Given the description of an element on the screen output the (x, y) to click on. 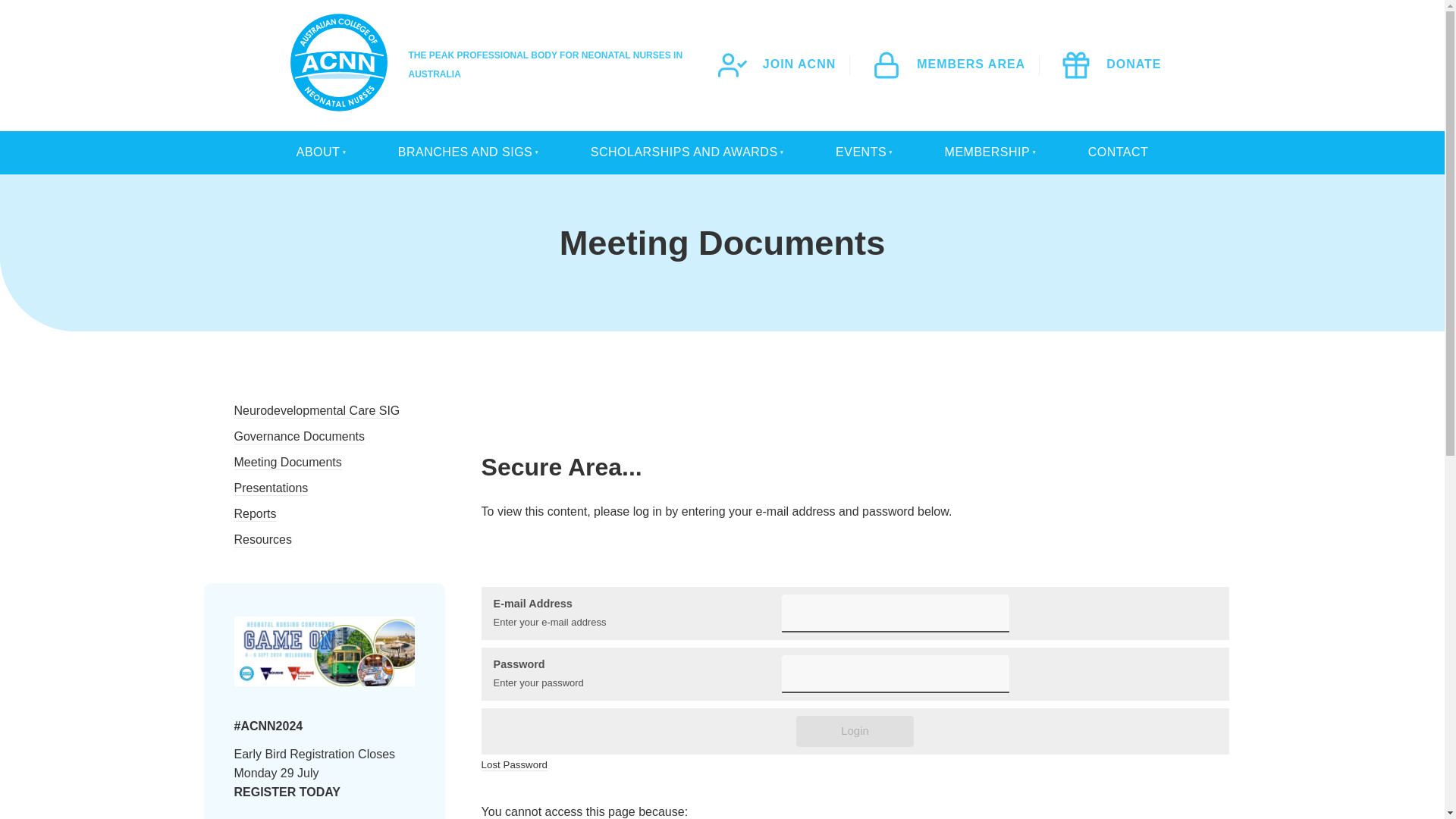
BRANCHES AND SIGS (465, 152)
DONATE (1110, 64)
SCHOLARSHIPS AND AWARDS (684, 152)
EVENTS (860, 152)
JOIN ACNN (776, 64)
MEMBERSHIP (986, 152)
ABOUT (317, 152)
MEMBERS AREA (948, 64)
